Given the description of an element on the screen output the (x, y) to click on. 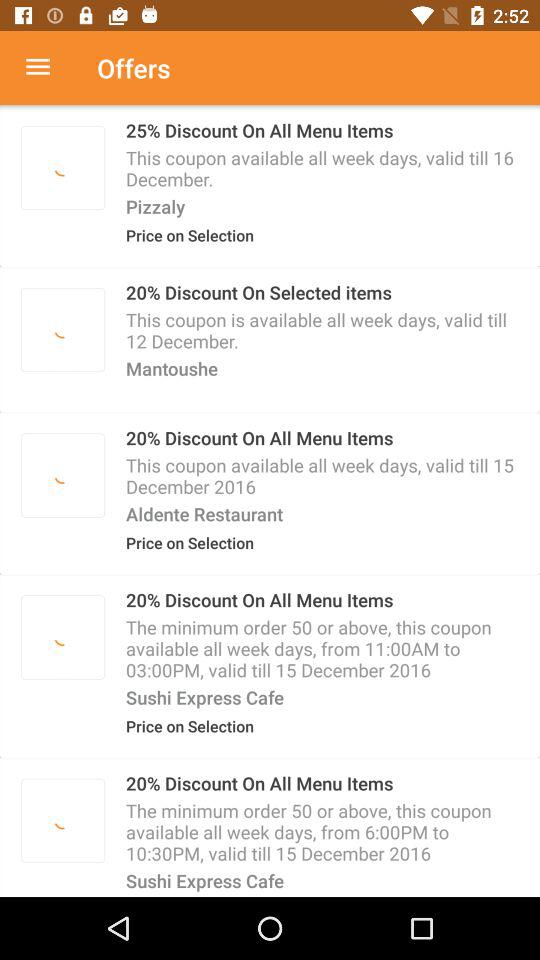
choose the item next to offers item (48, 67)
